Given the description of an element on the screen output the (x, y) to click on. 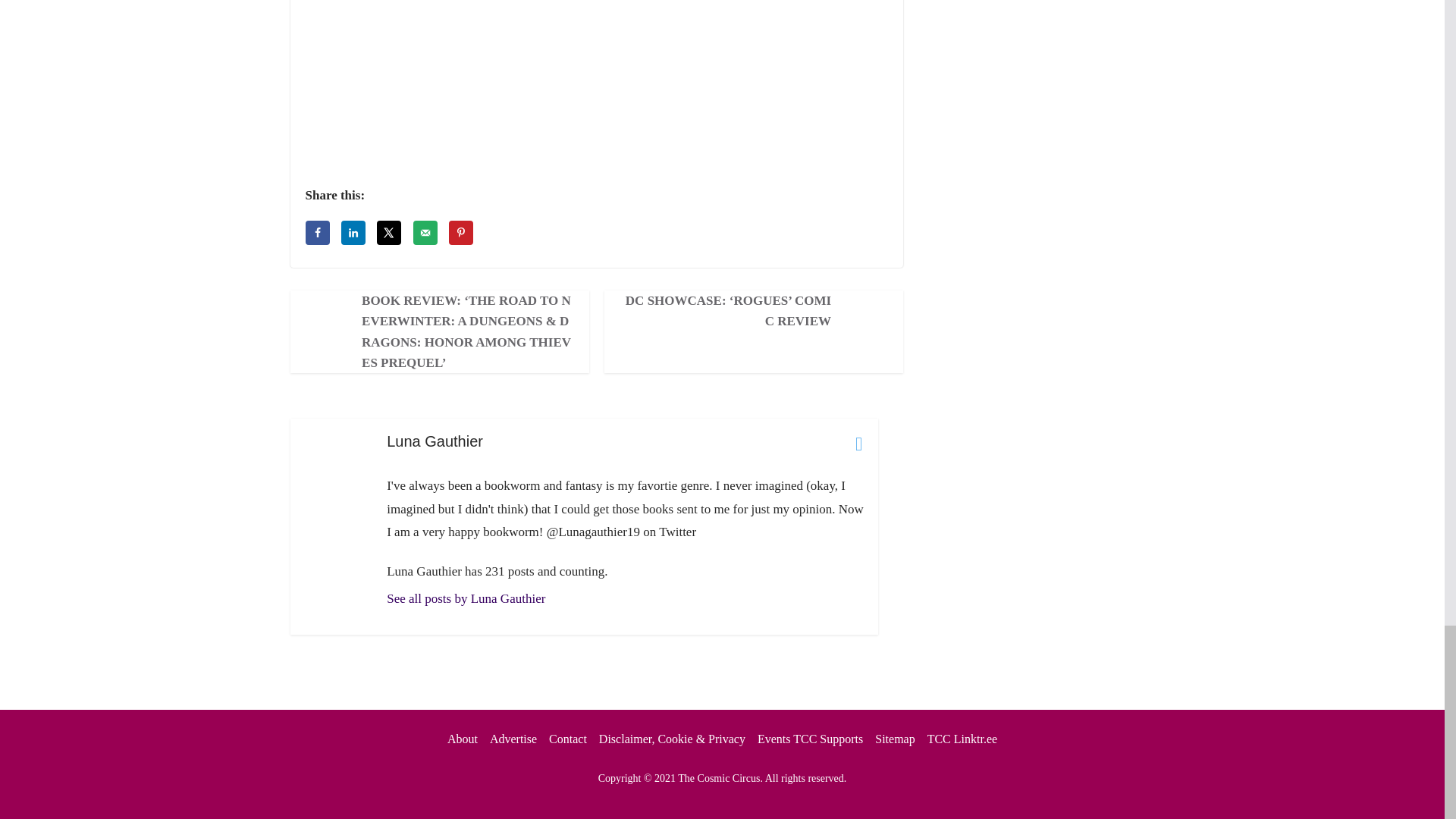
Save to Pinterest (460, 232)
Share on Facebook (316, 232)
Share on X (389, 232)
Share on LinkedIn (352, 232)
Send over email (425, 232)
